Given the description of an element on the screen output the (x, y) to click on. 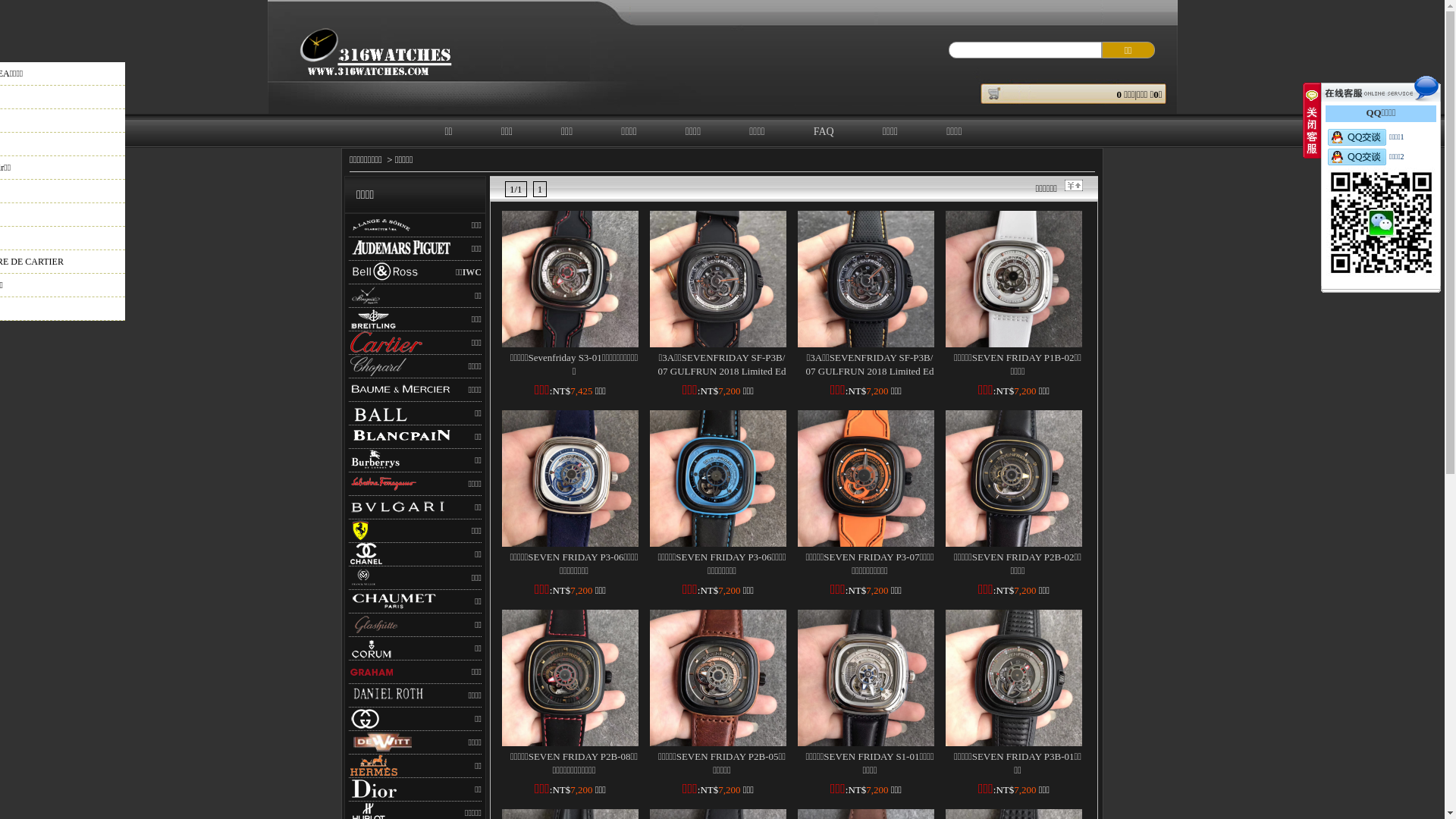
FAQ Element type: text (823, 131)
search Element type: hover (1127, 49)
1 Element type: text (540, 189)
1/1 Element type: text (516, 189)
